Given the description of an element on the screen output the (x, y) to click on. 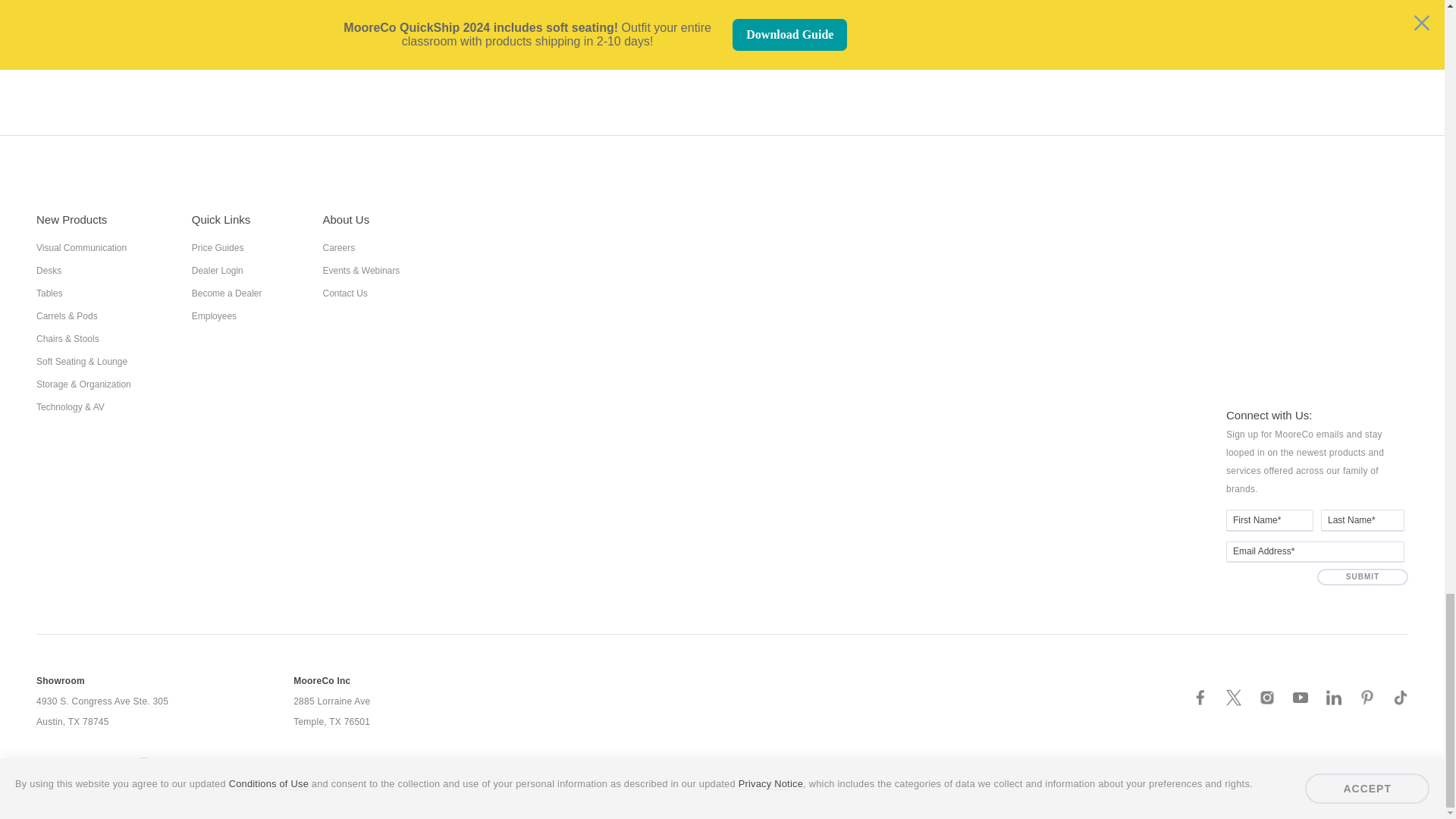
Elevate Steps Outside Wedge Seat (418, 37)
Elevate Steps Corner Seat (722, 37)
Elevate Steps Straight Seat (1024, 37)
Submit (1362, 576)
